Given the description of an element on the screen output the (x, y) to click on. 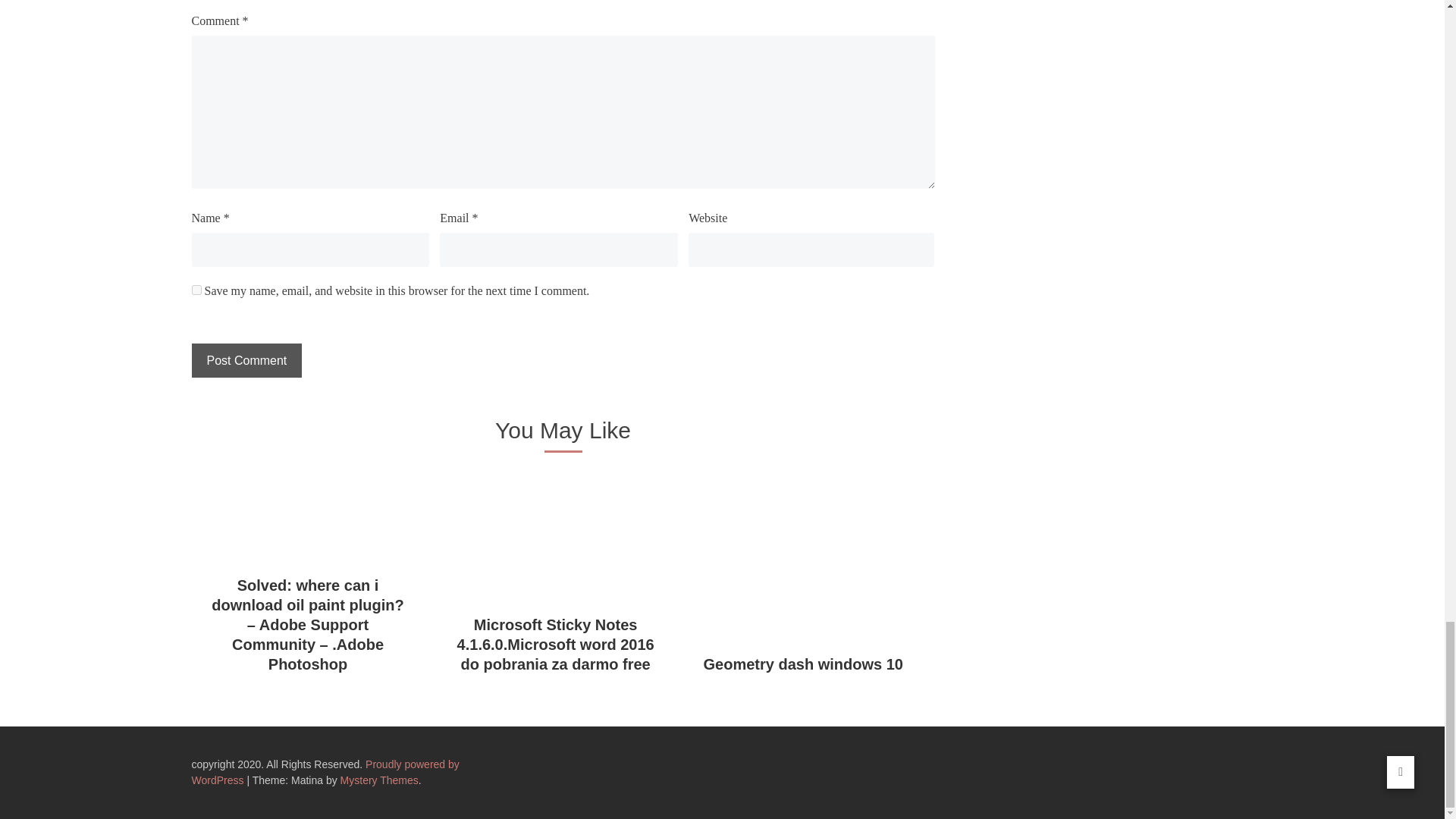
Post Comment (245, 360)
Geometry dash windows 10 (802, 664)
Post Comment (245, 360)
yes (195, 289)
Geometry dash windows 10 (802, 664)
